Given the description of an element on the screen output the (x, y) to click on. 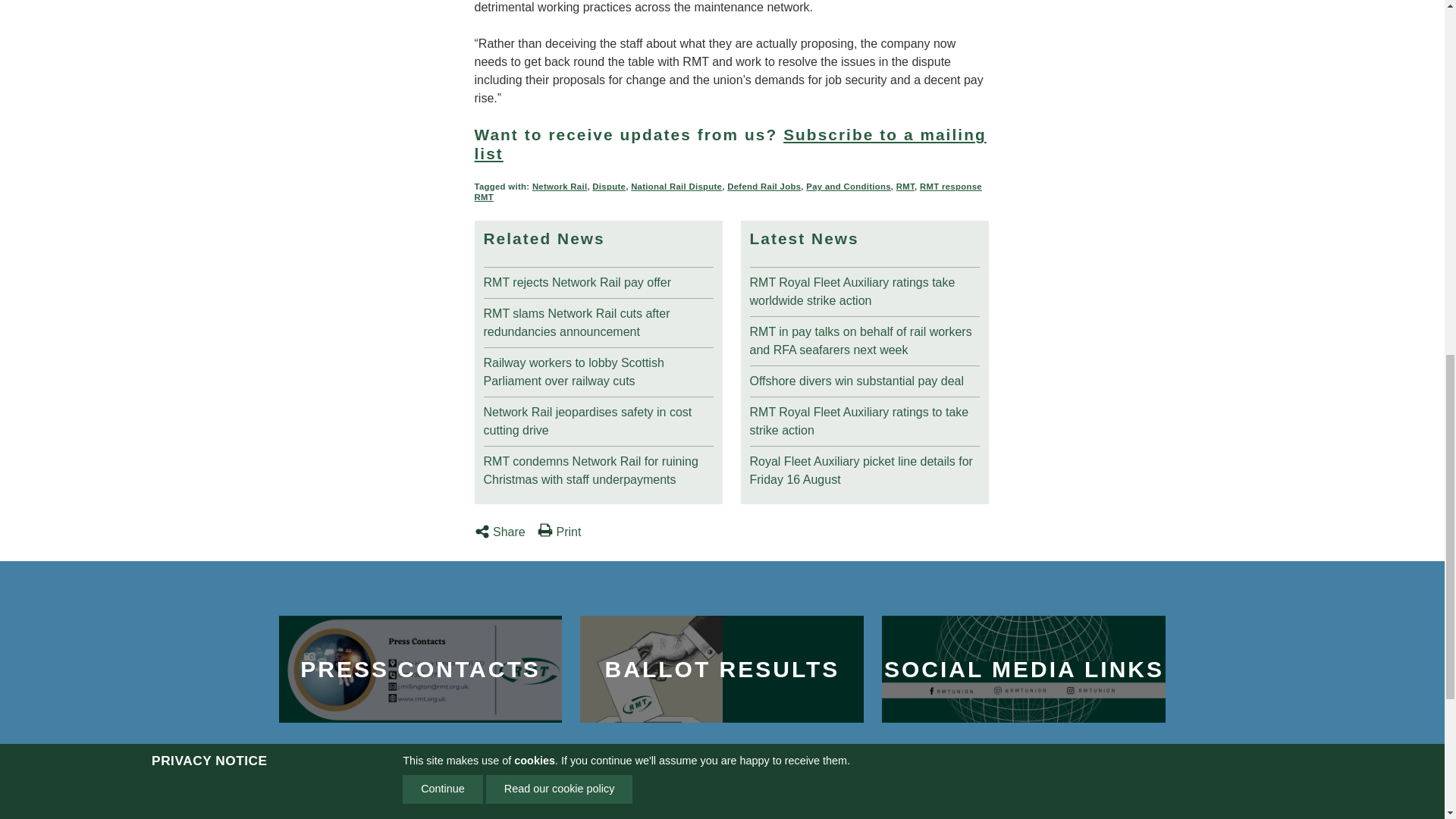
Pay and Conditions (848, 185)
Network Rail (560, 185)
RMT response RMT (727, 191)
Subscribe to a mailing list (730, 144)
RMT rejects Network Rail pay offer (598, 278)
Dispute (609, 185)
National Rail Dispute (676, 185)
Defend Rail Jobs (763, 185)
news (598, 319)
news (598, 466)
